Given the description of an element on the screen output the (x, y) to click on. 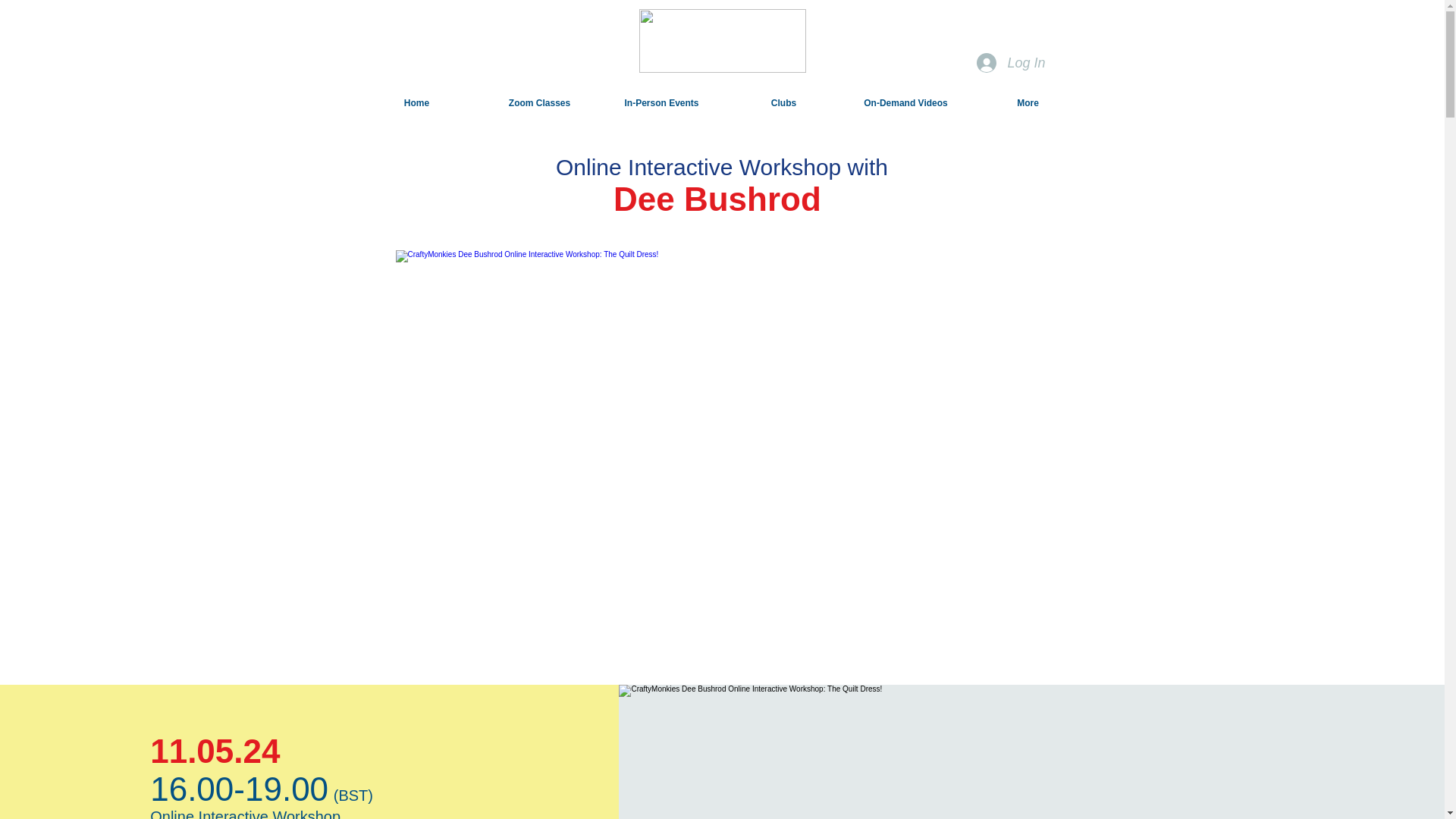
Log In (1010, 62)
Home (416, 103)
